Given the description of an element on the screen output the (x, y) to click on. 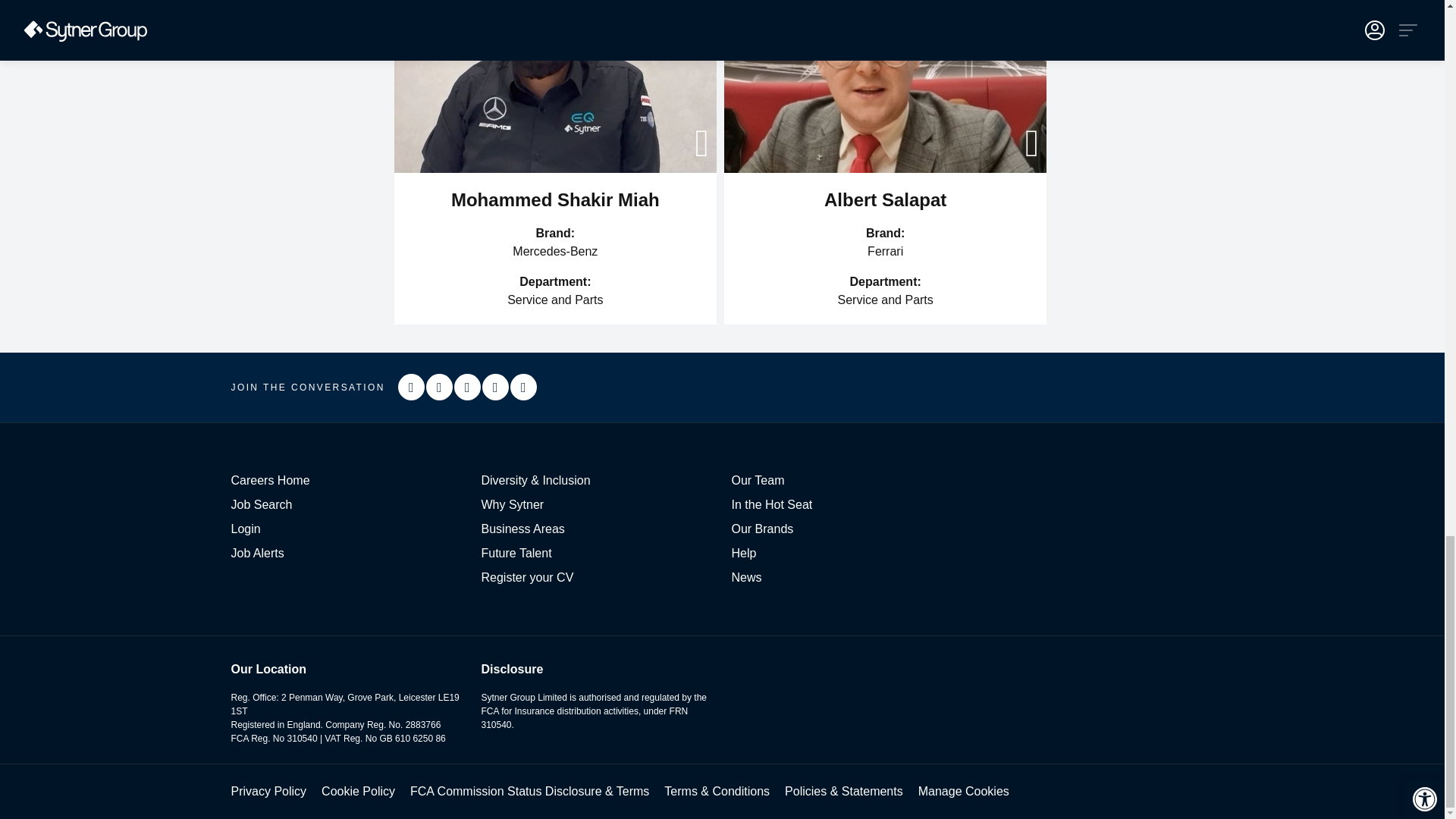
LinkedIn (467, 386)
Instagram (411, 386)
Facebook (439, 386)
Twitter (524, 386)
Cookie Policy (357, 790)
Privacy Policy (267, 790)
YouTube (494, 386)
Customer reviews powered by Trustpilot (888, 387)
